Given the description of an element on the screen output the (x, y) to click on. 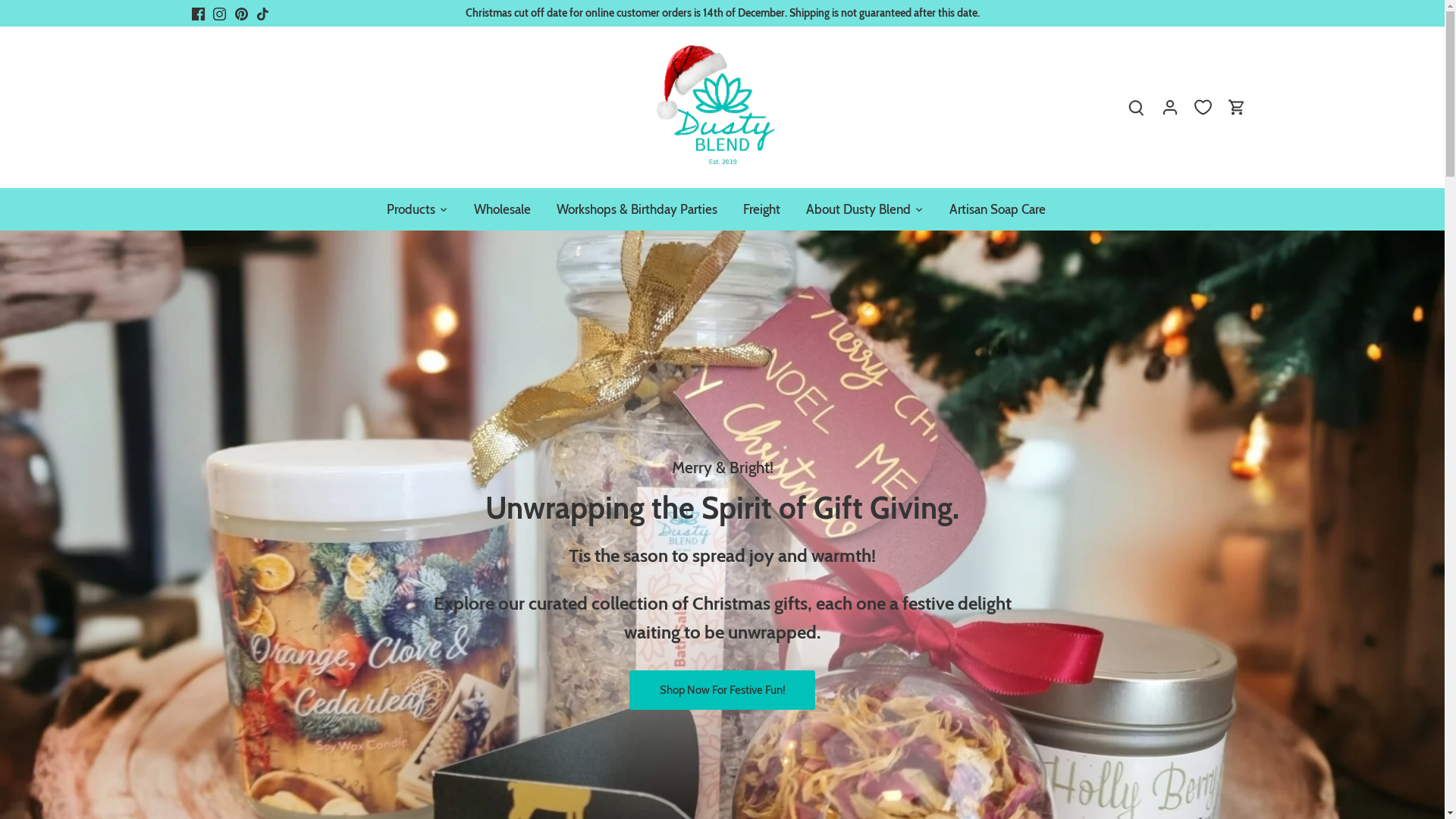
Products Element type: text (417, 209)
Shop Now For Festive Fun! Element type: text (722, 689)
Artisan Soap Care Element type: text (996, 209)
Workshops & Birthday Parties Element type: text (635, 209)
Freight Element type: text (760, 209)
Pinterest Element type: text (241, 13)
Instagram Element type: text (219, 13)
Go to cart Element type: hover (1236, 107)
Facebook Element type: text (197, 13)
Wholesale Element type: text (502, 209)
View Wishlist Element type: hover (1203, 107)
About Dusty Blend Element type: text (858, 209)
